Given the description of an element on the screen output the (x, y) to click on. 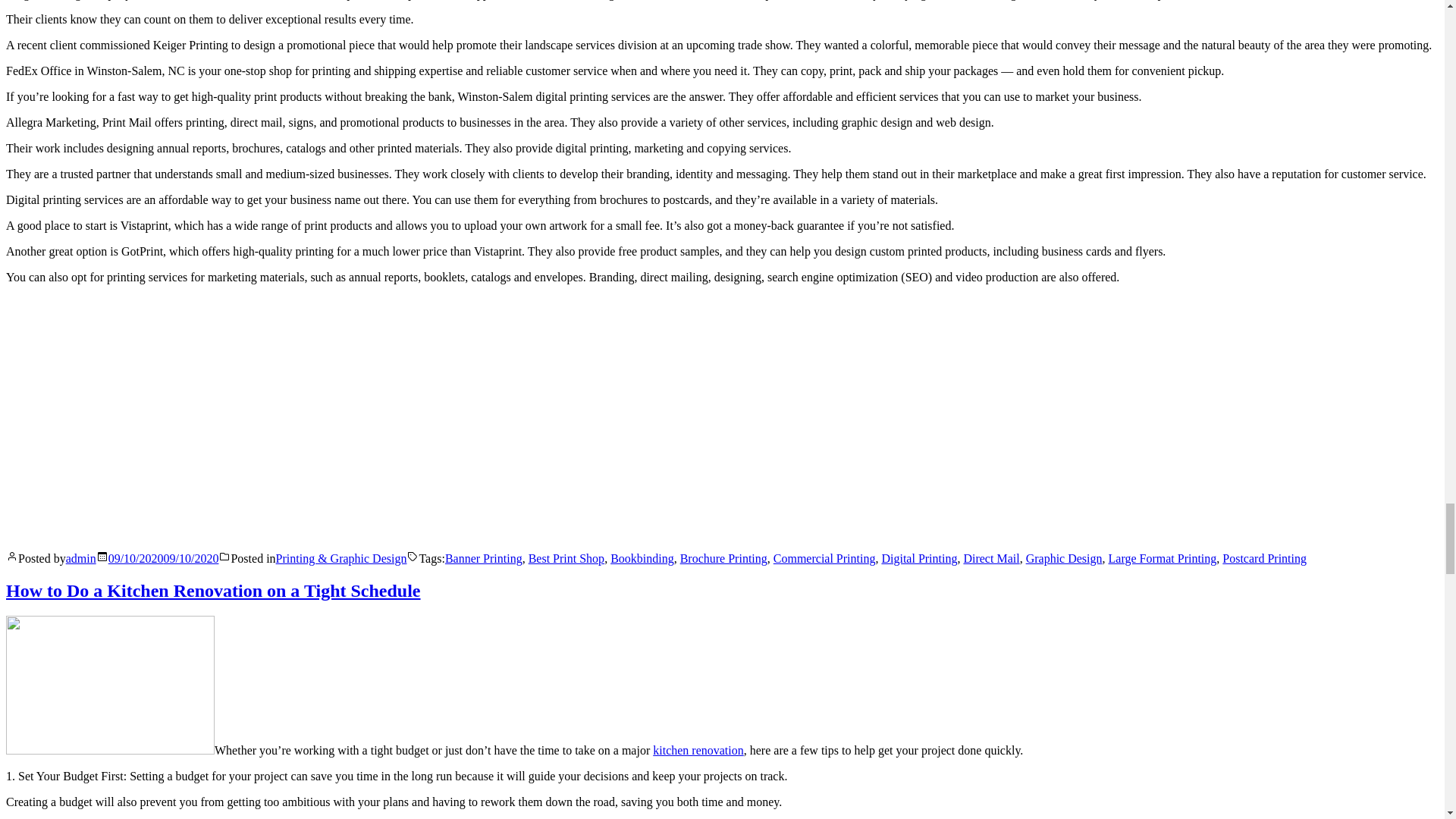
YouTube video player (217, 415)
